Given the description of an element on the screen output the (x, y) to click on. 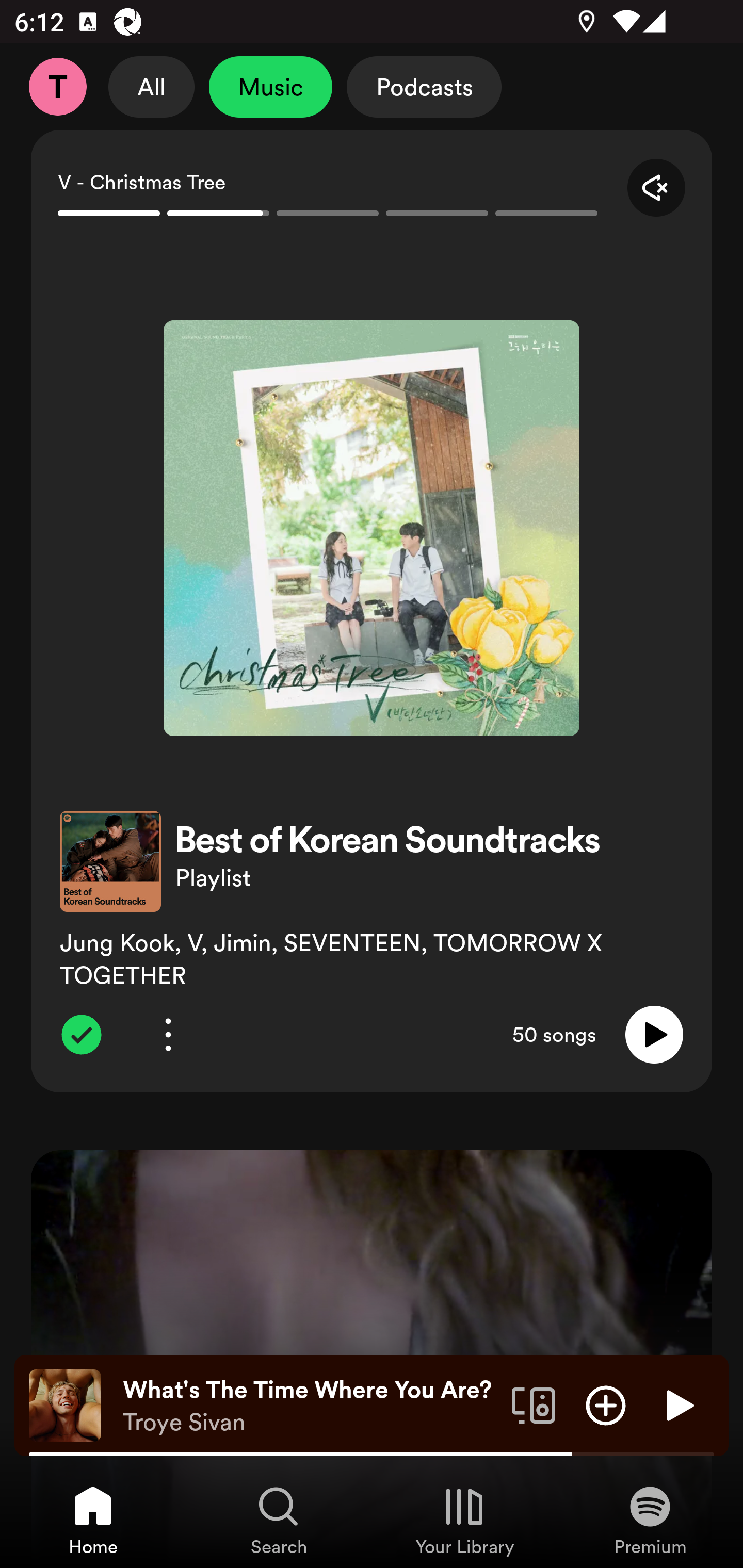
Profile (57, 86)
All Select All (151, 86)
Music Unselect Music (270, 86)
Podcasts Select Podcasts (423, 86)
Unmute (655, 187)
Item added (80, 1034)
Play (653, 1034)
What's The Time Where You Are? Troye Sivan (309, 1405)
The cover art of the currently playing track (64, 1404)
Connect to a device. Opens the devices menu (533, 1404)
Add item (605, 1404)
Play (677, 1404)
Home, Tab 1 of 4 Home Home (92, 1519)
Search, Tab 2 of 4 Search Search (278, 1519)
Your Library, Tab 3 of 4 Your Library Your Library (464, 1519)
Premium, Tab 4 of 4 Premium Premium (650, 1519)
